Given the description of an element on the screen output the (x, y) to click on. 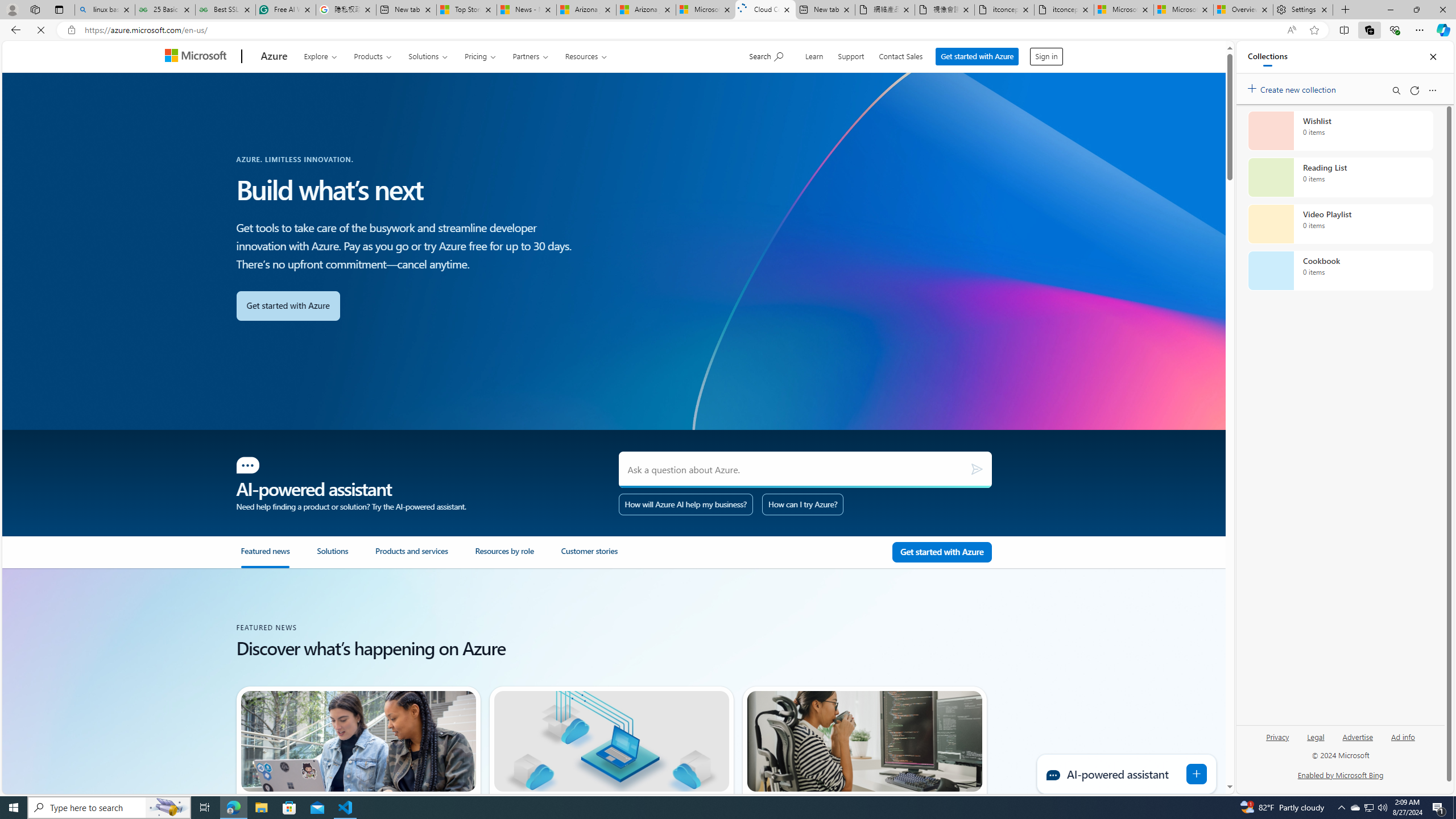
linux basic - Search (104, 9)
Learn (815, 54)
Featured news (264, 555)
Contact Sales (902, 54)
